Given the description of an element on the screen output the (x, y) to click on. 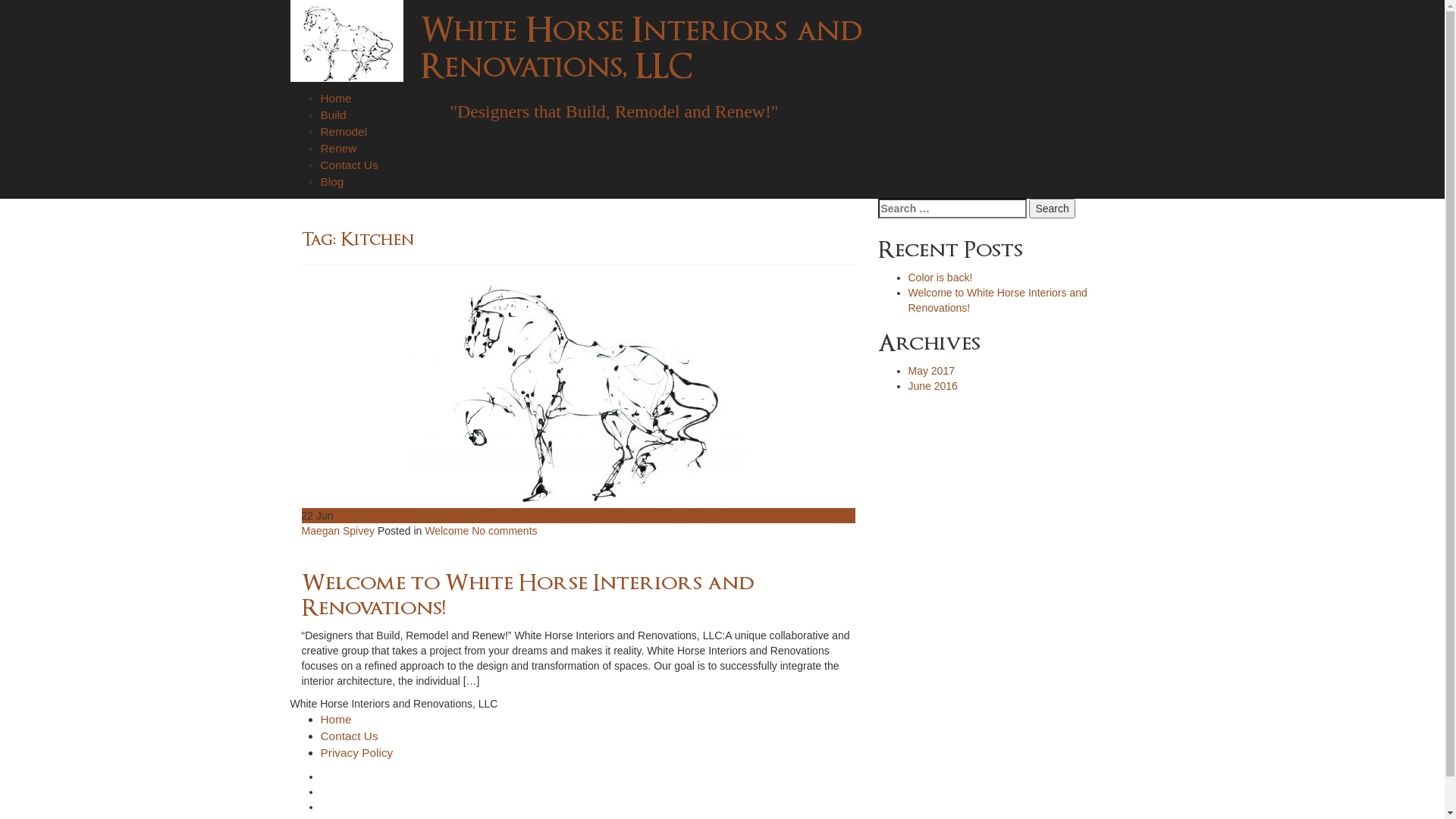
Blog Element type: text (331, 181)
No comments Element type: text (503, 530)
Contact Us Element type: text (348, 164)
Contact Us Element type: text (348, 735)
Maegan Spivey Element type: text (339, 530)
Build Element type: text (332, 114)
Renew Element type: text (338, 147)
Color is back! Element type: text (940, 277)
White Horse Interiors and Renovations, LLC Element type: text (641, 48)
Privacy Policy Element type: text (356, 752)
Remodel Element type: text (343, 131)
Home Element type: text (335, 718)
Welcome to White Horse Interiors and Renovations! Element type: hover (578, 394)
Welcome Element type: text (446, 530)
May 2017 Element type: text (931, 370)
Search Element type: text (1051, 208)
Welcome to White Horse Interiors and Renovations! Element type: text (527, 595)
June 2016 Element type: text (932, 385)
Home Element type: text (335, 97)
Welcome to White Horse Interiors and Renovations! Element type: text (997, 299)
